Given the description of an element on the screen output the (x, y) to click on. 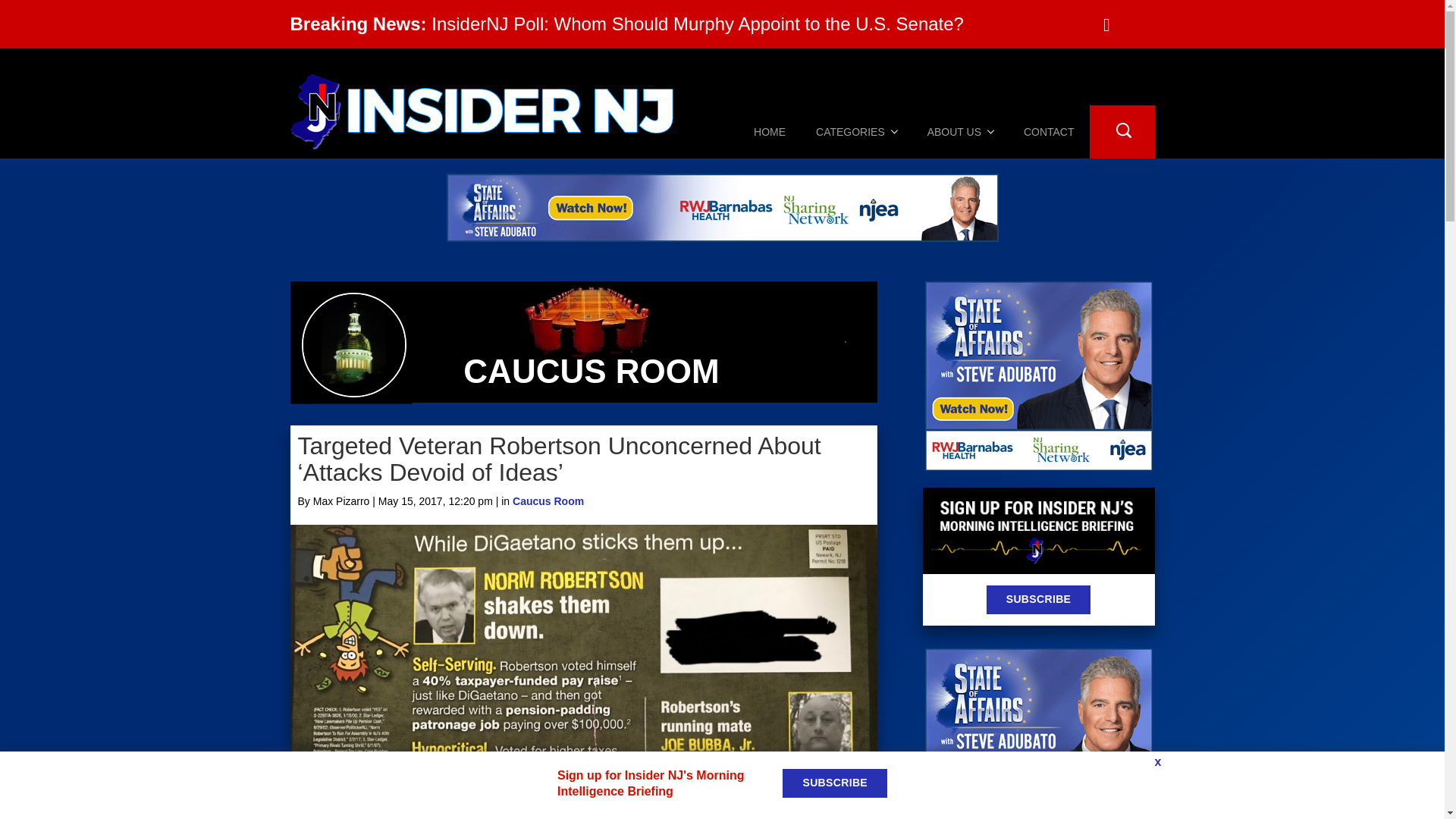
ABOUT US (960, 131)
CATEGORIES (856, 131)
SUBSCRIBE (1038, 599)
HOME (769, 131)
Home (769, 131)
Categories (856, 131)
About Us (960, 131)
Caucus Room (547, 500)
CONTACT (1049, 131)
Contact (1049, 131)
